Given the description of an element on the screen output the (x, y) to click on. 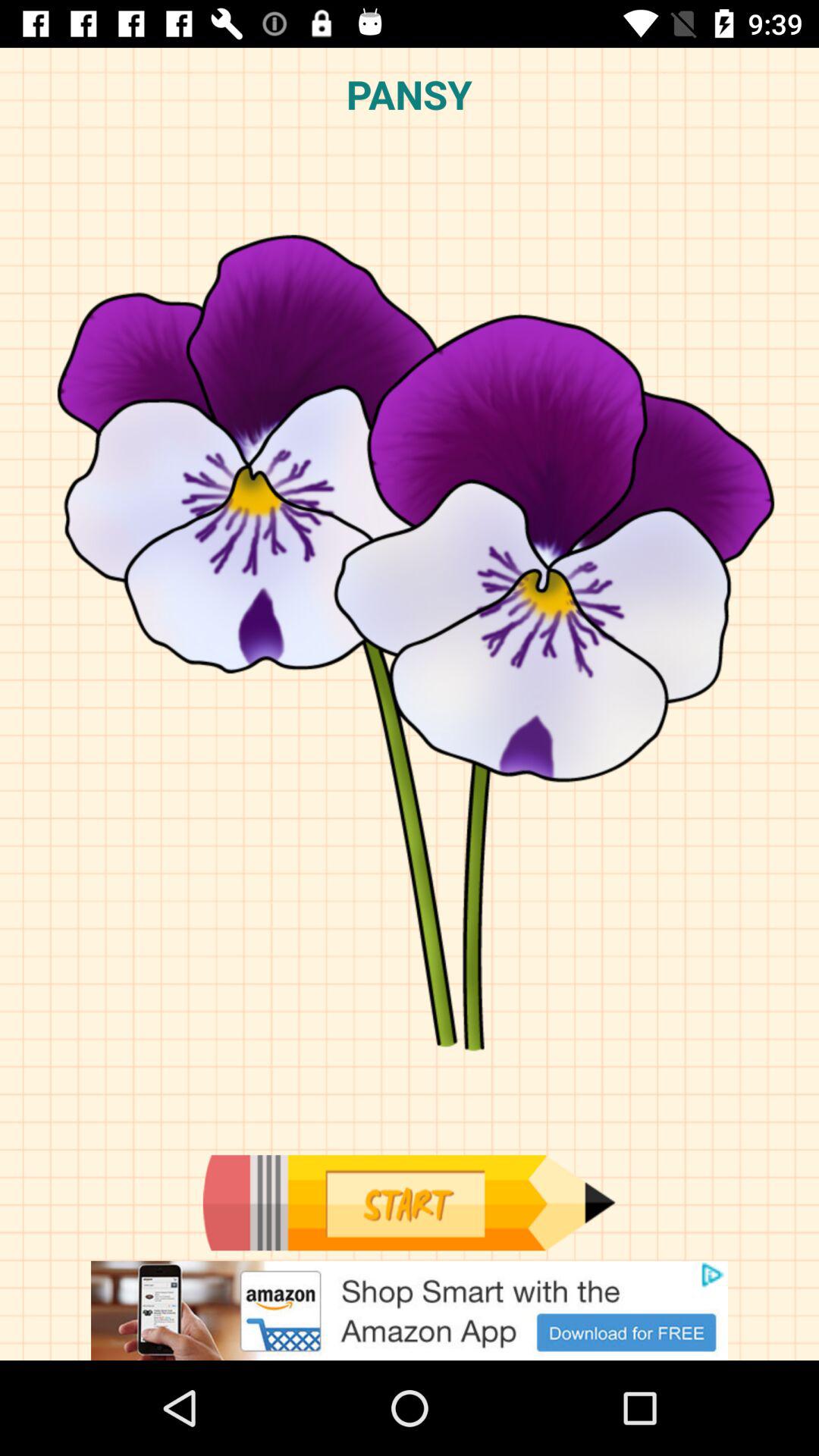
view advertisement (409, 1310)
